Given the description of an element on the screen output the (x, y) to click on. 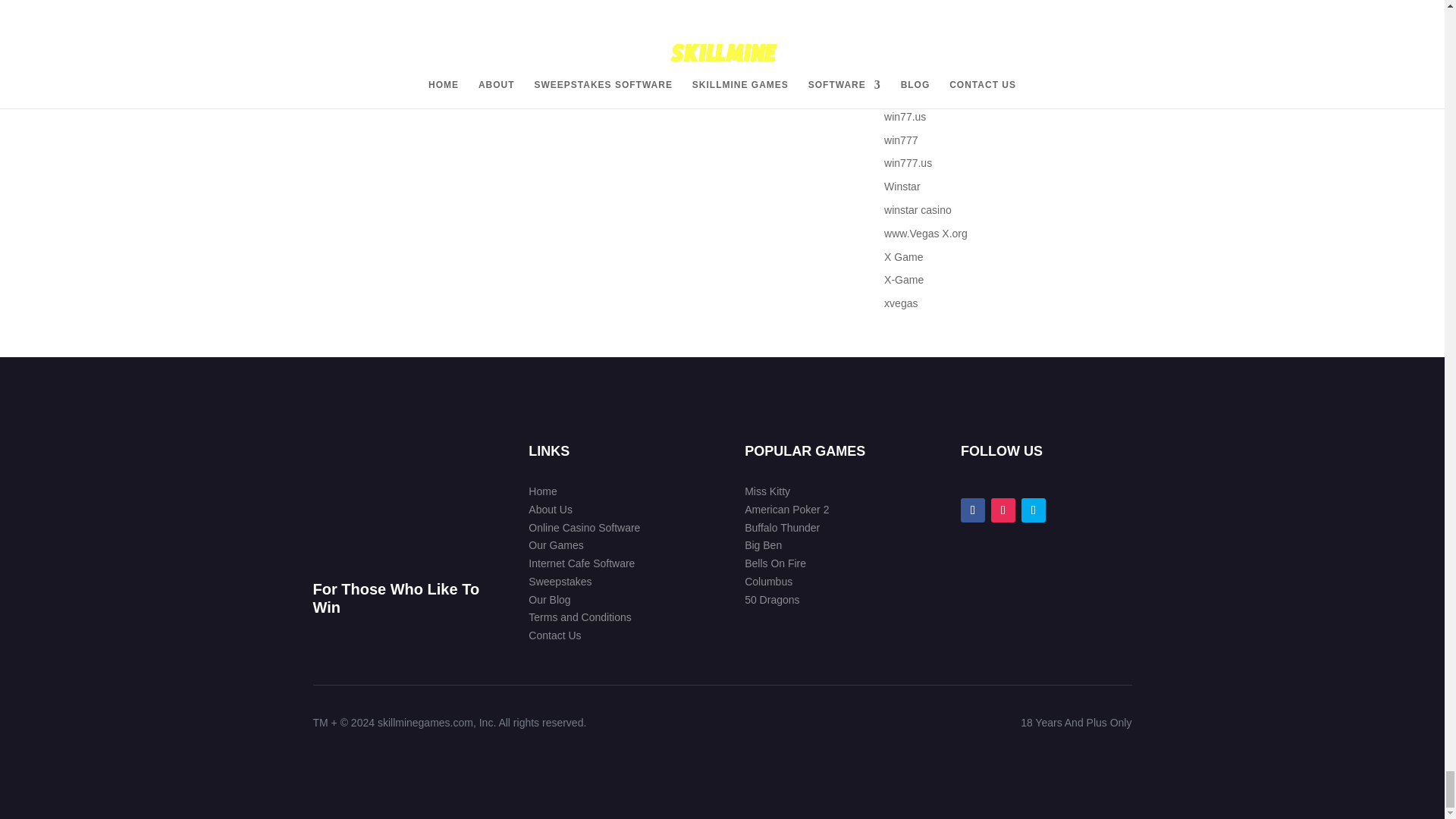
Follow on Instagram (1002, 509)
Follow on Facebook (972, 509)
